Given the description of an element on the screen output the (x, y) to click on. 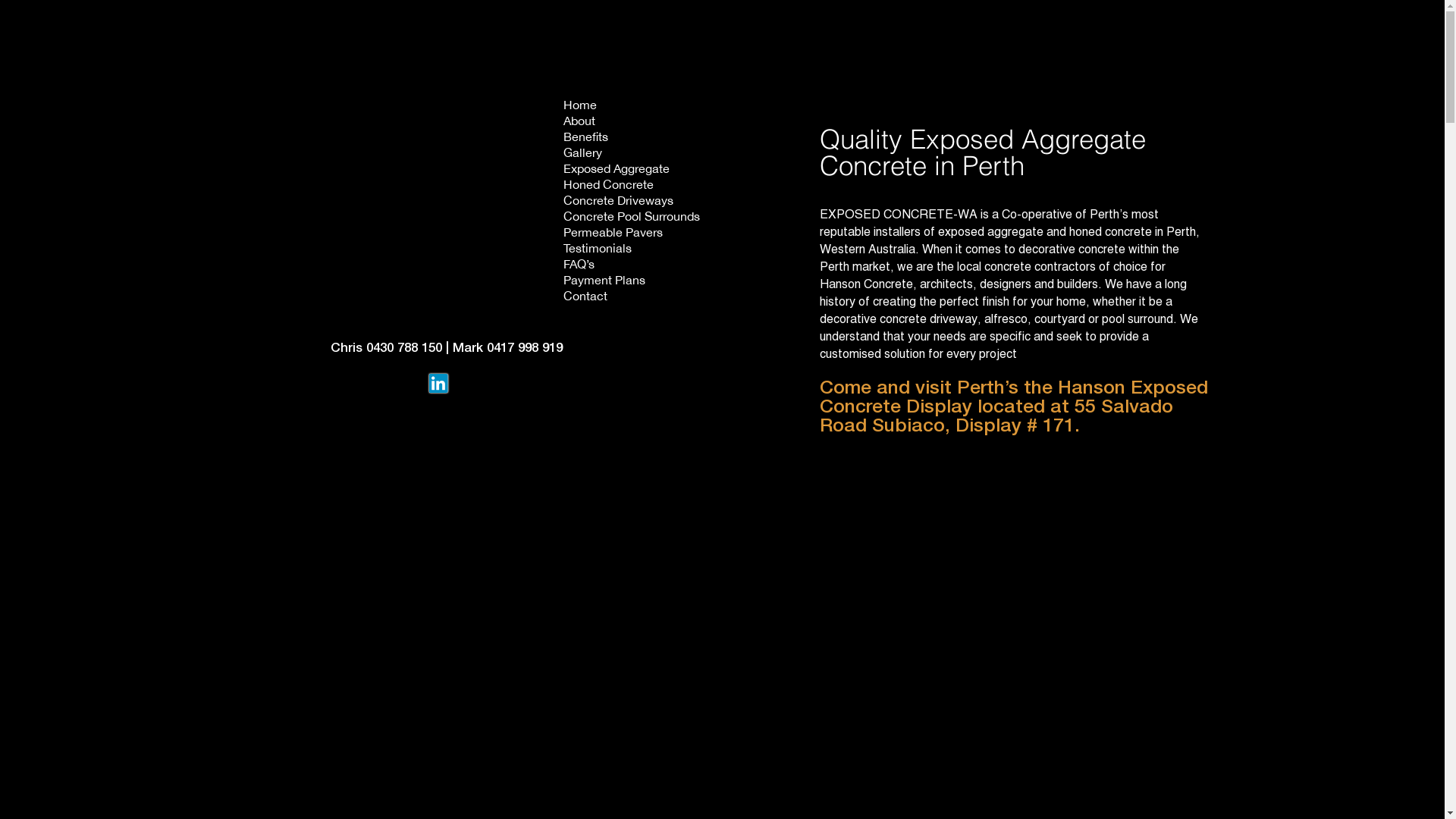
Contact Element type: text (631, 297)
Exposed Aggregate Element type: text (631, 170)
0430 788 150 Element type: text (403, 348)
About Element type: text (631, 122)
0417 998 919 Element type: text (524, 348)
Benefits Element type: text (631, 138)
Honed Concrete Element type: text (631, 186)
Payment Plans Element type: text (631, 281)
Permeable Pavers Element type: text (631, 233)
Home Element type: text (631, 106)
Gallery Element type: text (631, 154)
Concrete Driveways Element type: text (631, 202)
Testimonials Element type: text (631, 249)
Concrete Pool Surrounds Element type: text (631, 217)
